Given the description of an element on the screen output the (x, y) to click on. 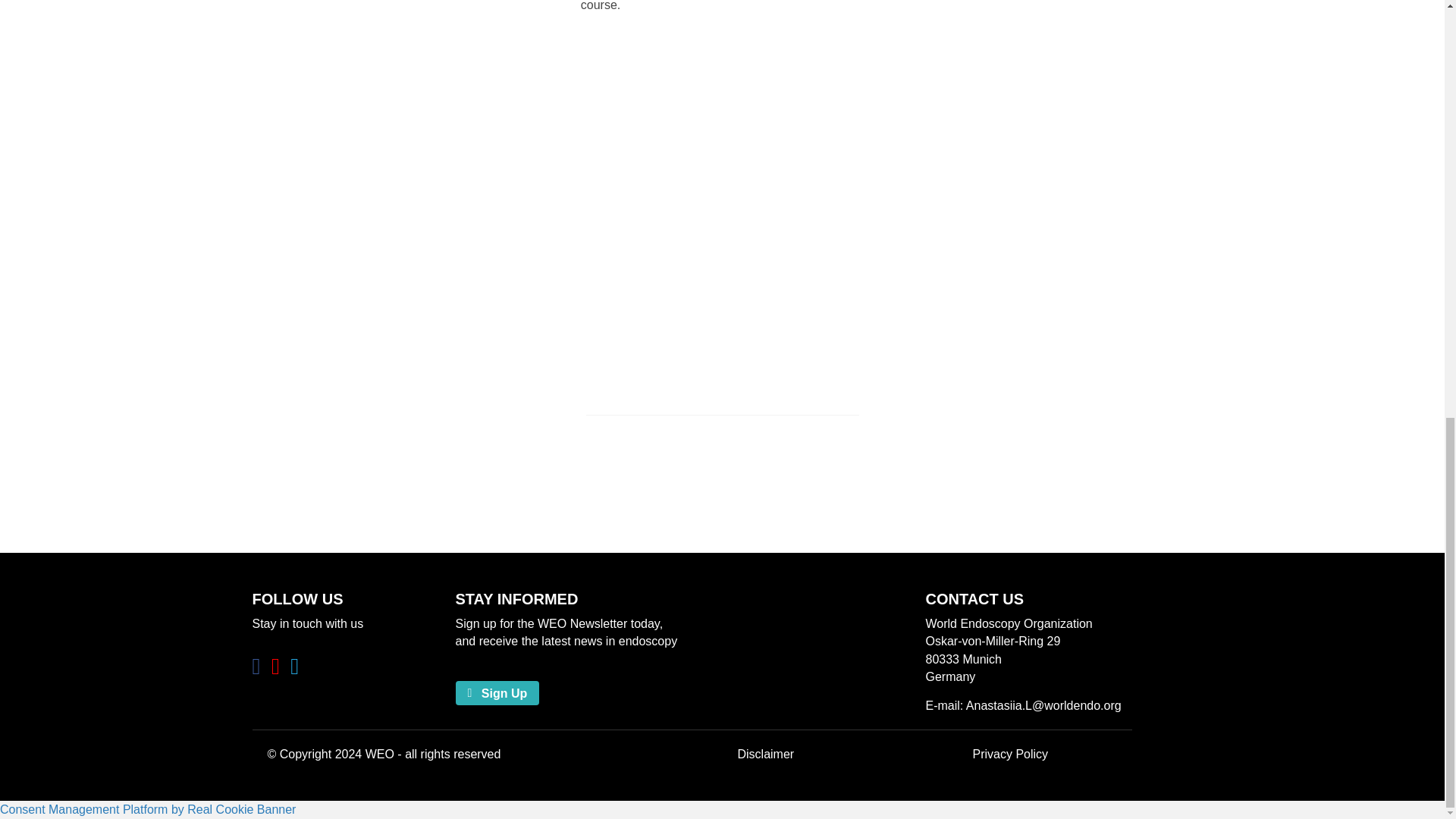
Consent Management Platform by Real Cookie Banner (147, 809)
Sign Up (496, 692)
Privacy Policy (1010, 753)
Disclaimer (764, 753)
